Given the description of an element on the screen output the (x, y) to click on. 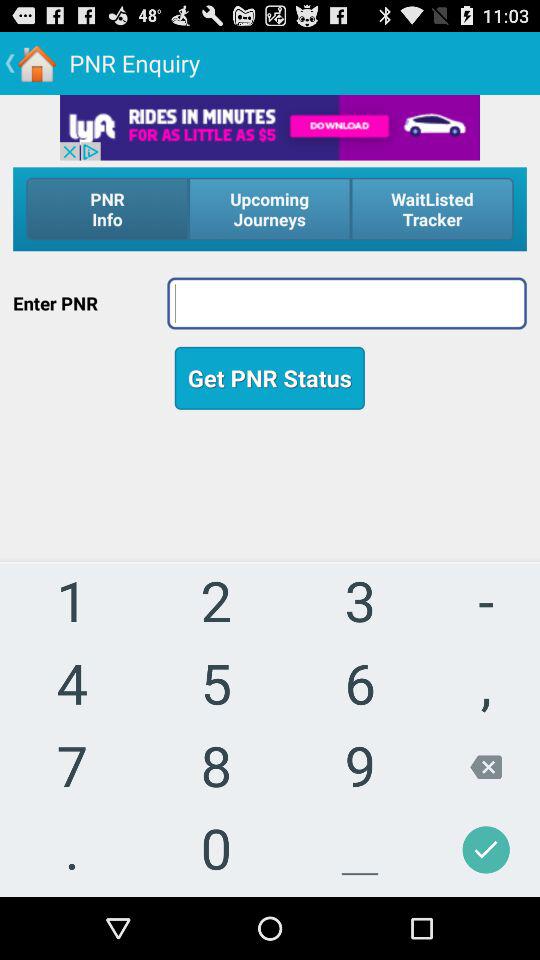
see advertisement (270, 127)
